Given the description of an element on the screen output the (x, y) to click on. 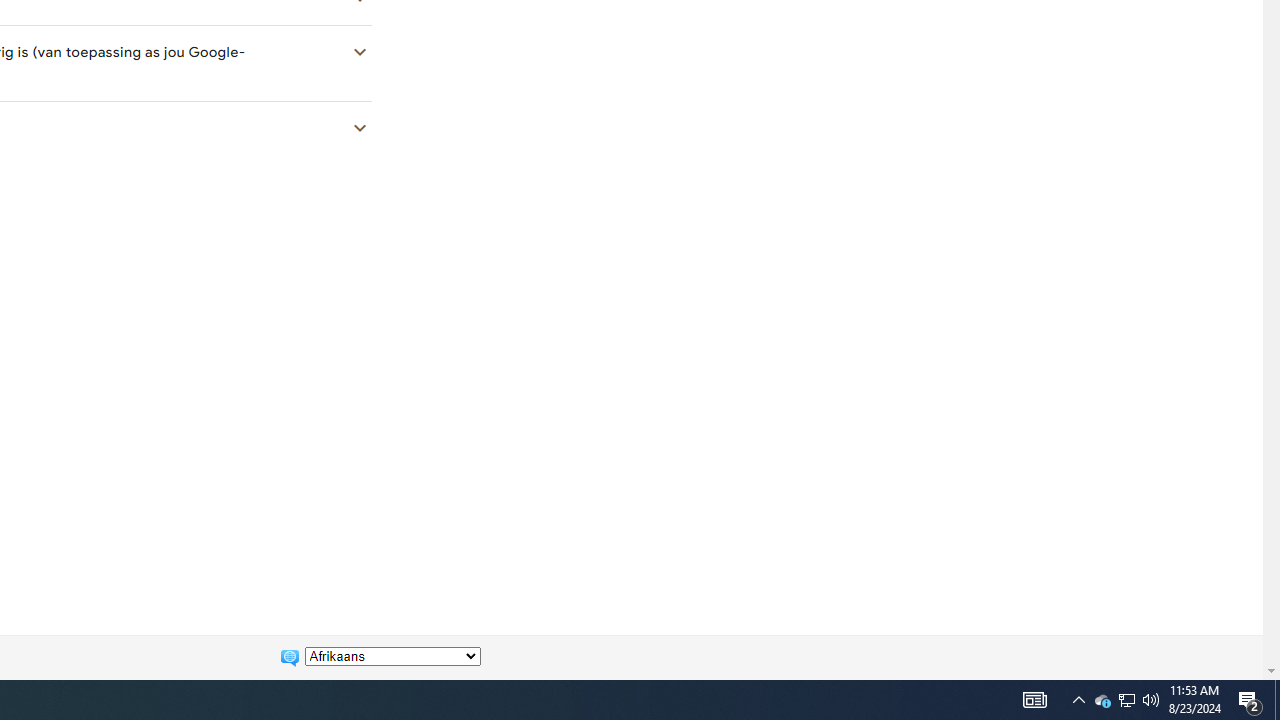
Verander taal: (392, 656)
